Given the description of an element on the screen output the (x, y) to click on. 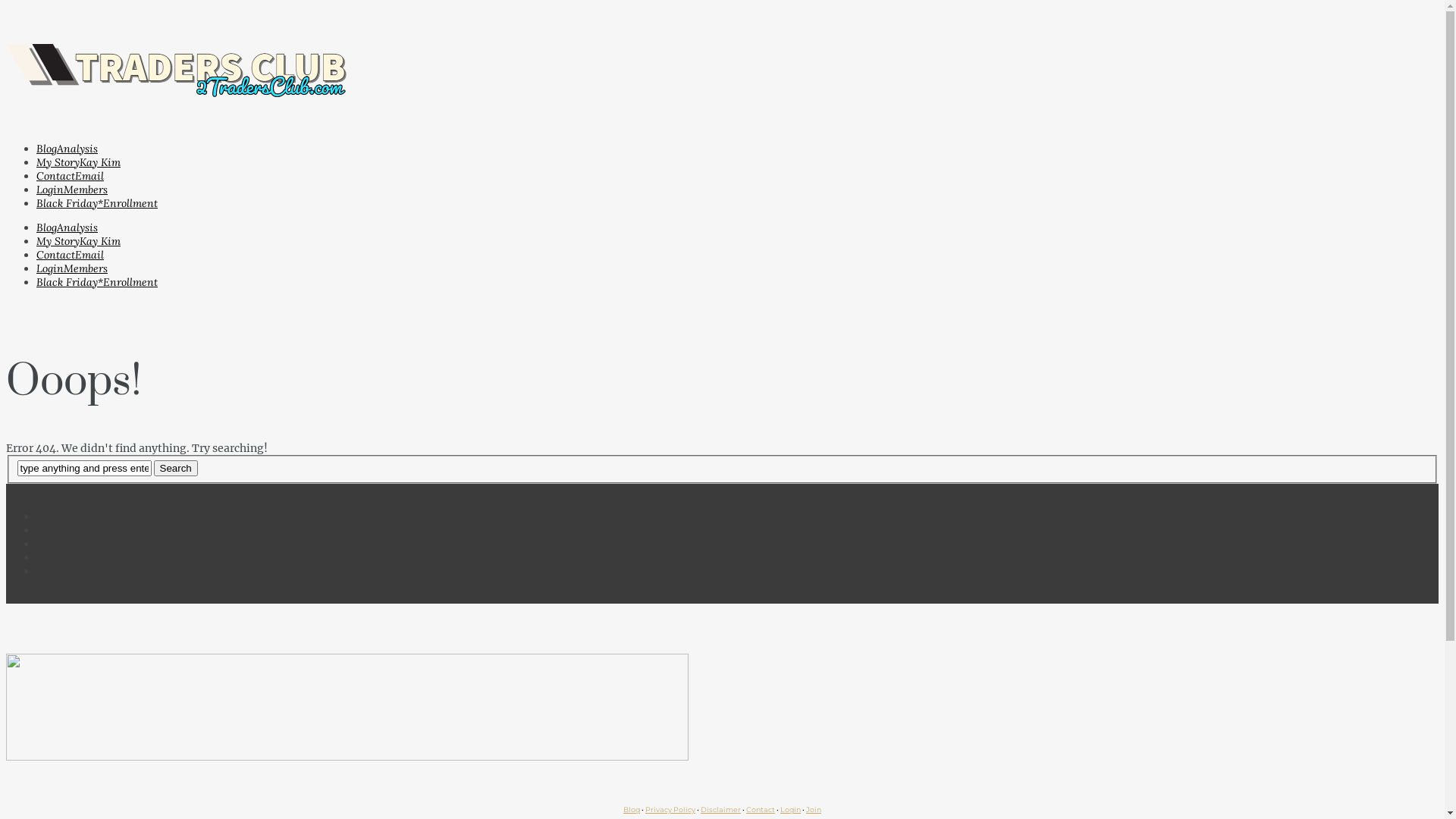
ContactEmail Element type: text (69, 253)
BlogAnalysis Element type: text (66, 147)
n Element type: text (798, 809)
Logi Element type: text (788, 809)
My StoryKay Kim Element type: text (78, 161)
My StoryKay Kim Element type: text (78, 240)
ContactEmail Element type: text (69, 175)
Privacy Policy Element type: text (670, 809)
Join Element type: text (813, 809)
Black Friday*Enrollment Element type: text (96, 281)
Blog Element type: text (631, 809)
LoginMembers Element type: text (71, 267)
Search Element type: text (175, 468)
Disclaimer Element type: text (720, 809)
BlogAnalysis Element type: text (66, 226)
Contact Element type: text (760, 809)
LoginMembers Element type: text (71, 188)
Black Friday*Enrollment Element type: text (96, 202)
